Given the description of an element on the screen output the (x, y) to click on. 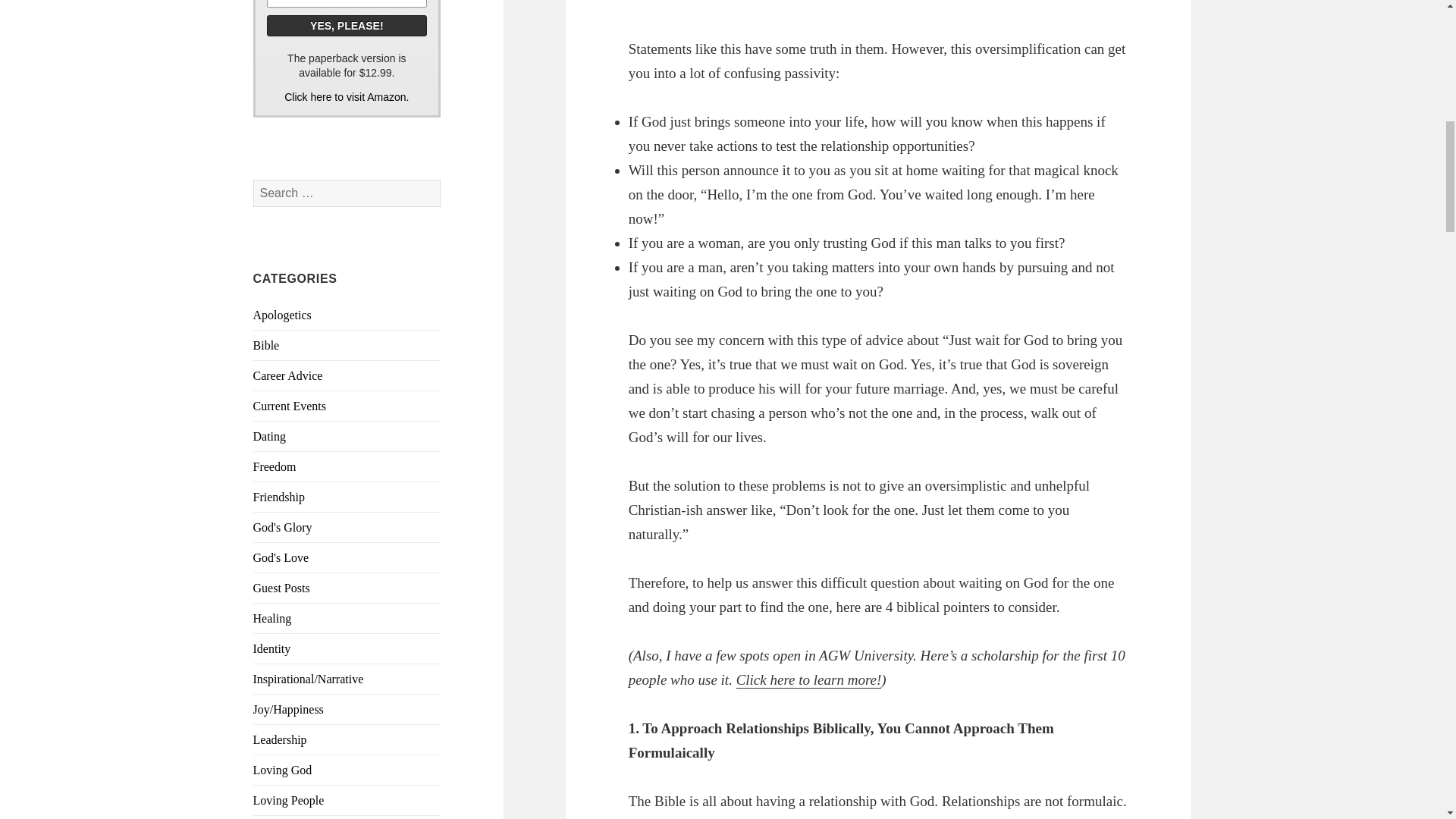
Bible (266, 345)
YES, PLEASE! (347, 25)
God's Glory (283, 526)
Loving People (288, 799)
Loving God (283, 769)
Guest Posts (281, 587)
Dating (269, 436)
Leadership (280, 739)
Healing (272, 617)
Freedom (275, 466)
